Given the description of an element on the screen output the (x, y) to click on. 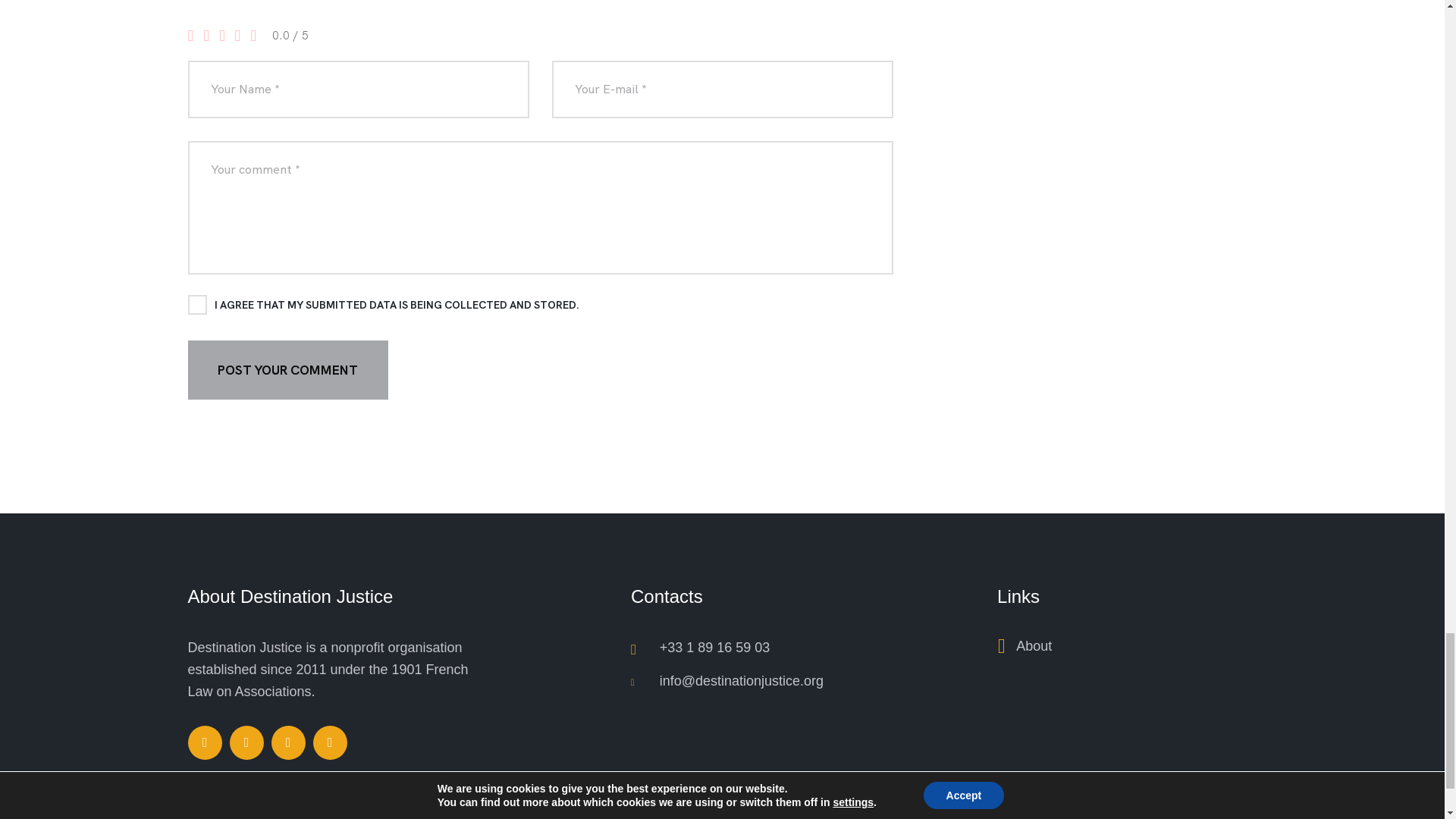
Post Your Comment (287, 369)
